Given the description of an element on the screen output the (x, y) to click on. 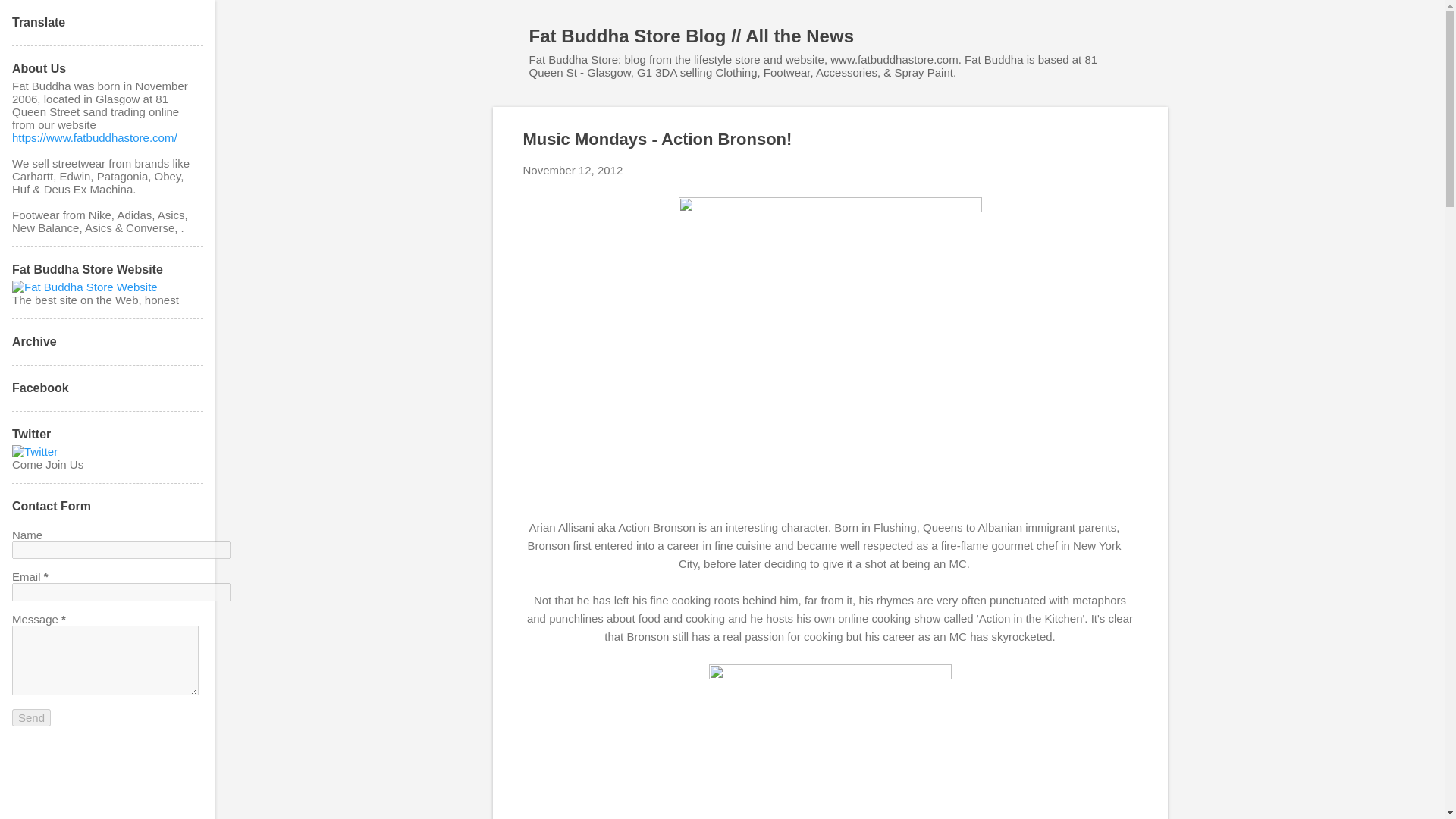
Send (30, 717)
permanent link (572, 169)
Search (29, 18)
November 12, 2012 (572, 169)
